Given the description of an element on the screen output the (x, y) to click on. 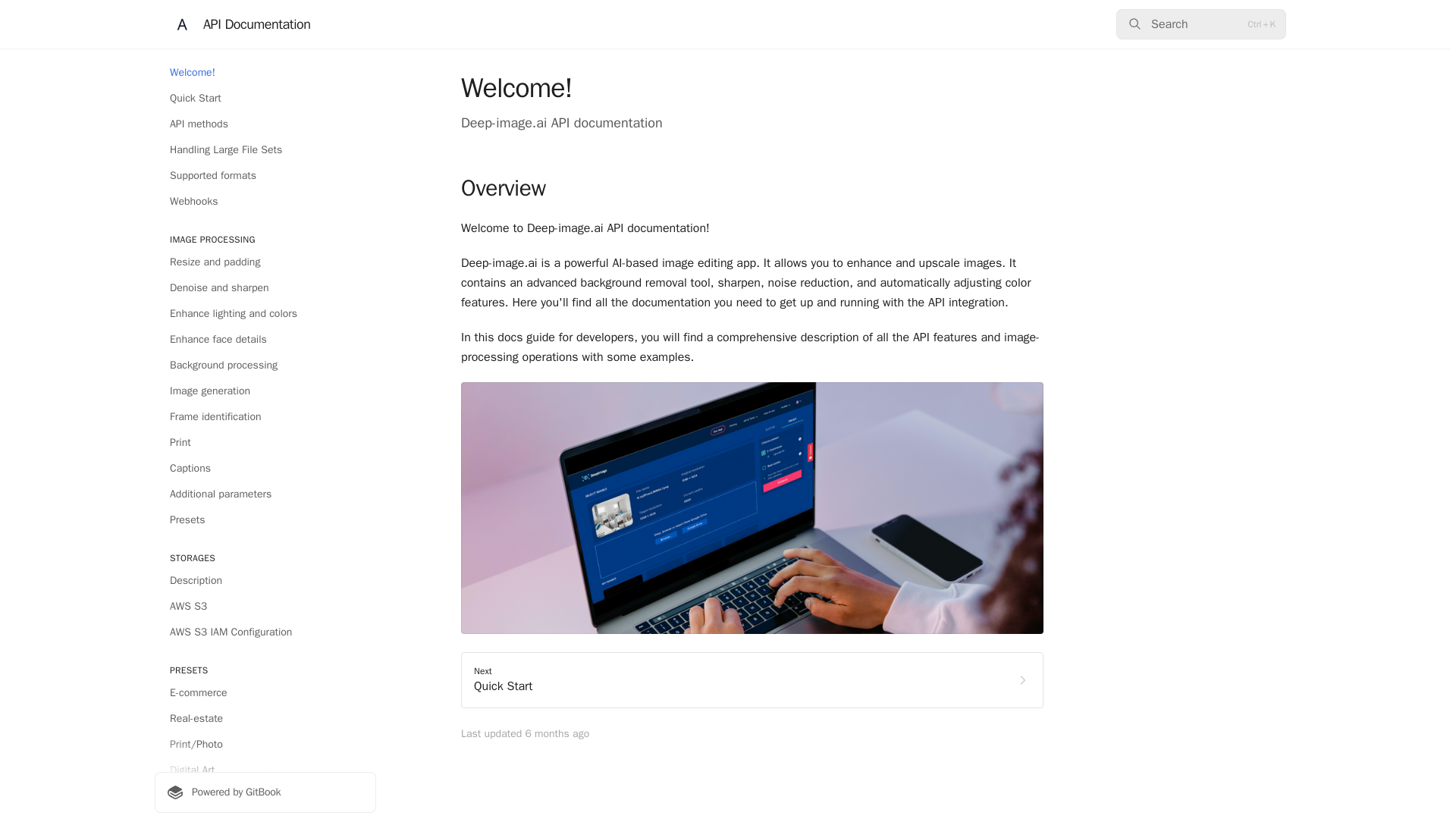
Welcome! (264, 72)
Quick Start (264, 98)
Frame identification (264, 416)
AWS S3 IAM Configuration (264, 631)
Supported formats (264, 175)
Denoise and sharpen (264, 288)
Digital Art (264, 770)
Background processing (264, 364)
Handling Large File Sets (264, 150)
Webhooks (752, 679)
Powered by GitBook (264, 201)
Print (264, 792)
Image generation (264, 442)
API methods (264, 391)
